Given the description of an element on the screen output the (x, y) to click on. 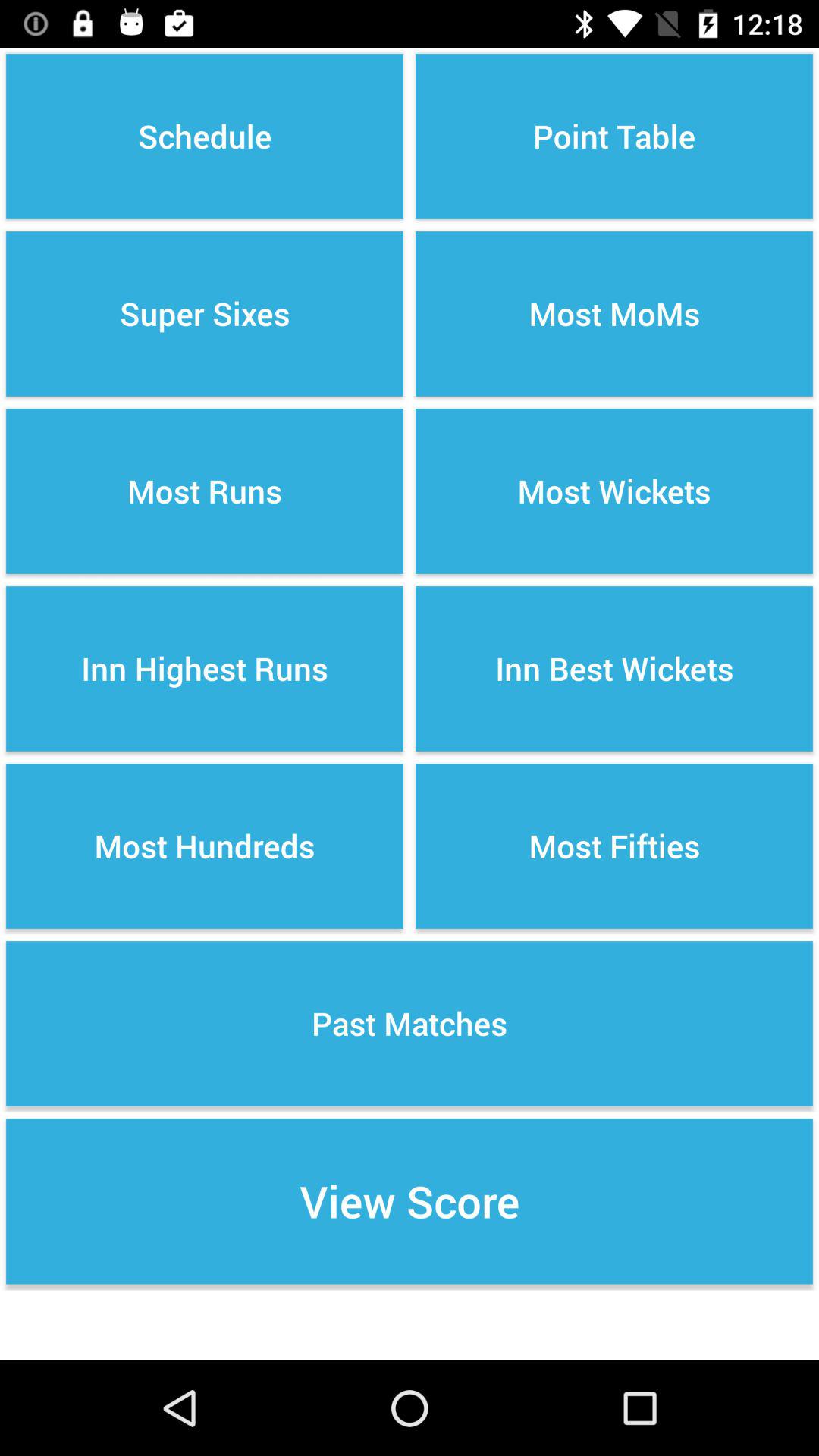
launch the icon above the super sixes item (204, 136)
